Given the description of an element on the screen output the (x, y) to click on. 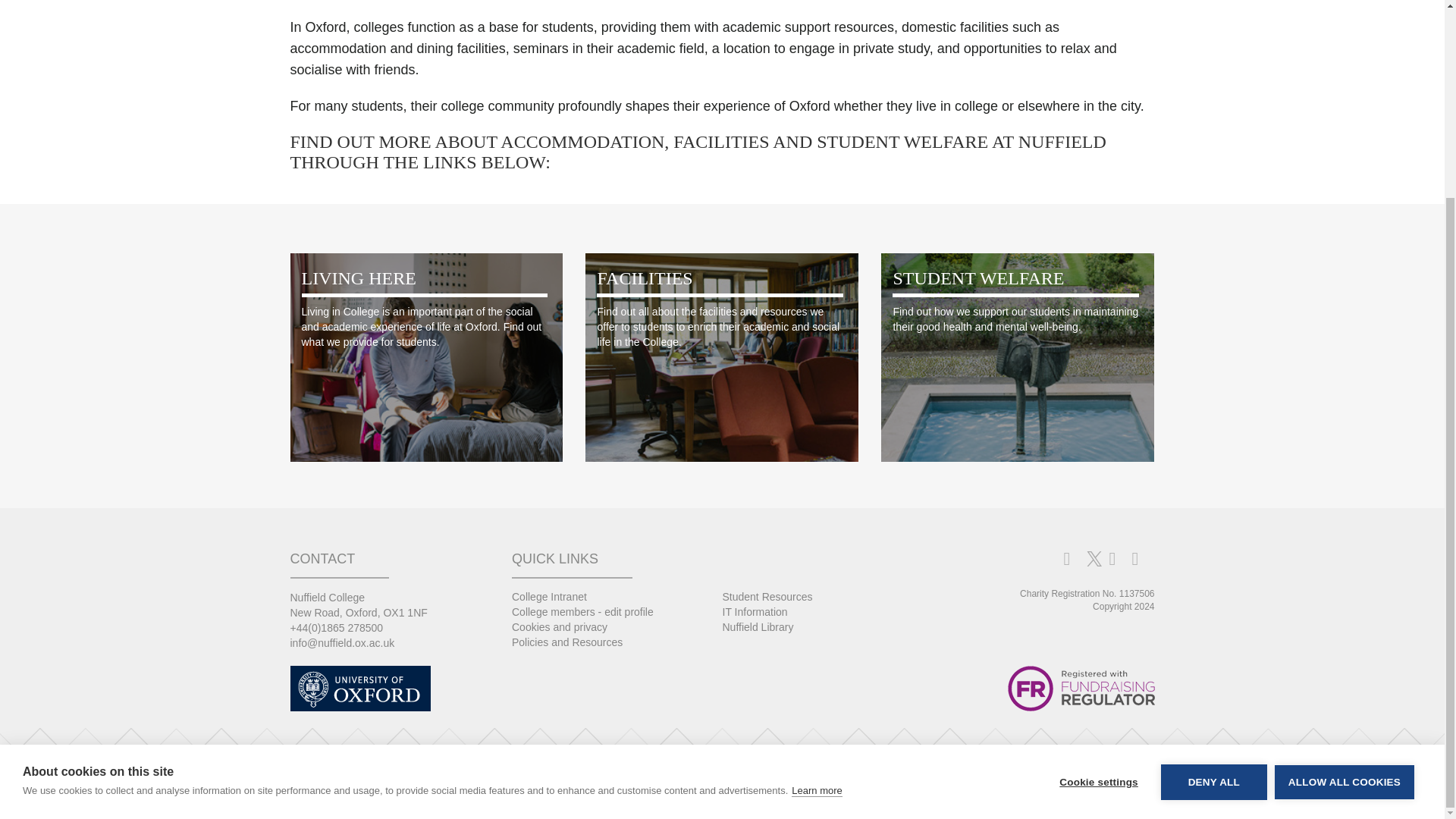
ALLOW ALL COOKIES (1344, 555)
DENY ALL (1213, 562)
Cookie settings (1098, 580)
Learn more (816, 598)
